Given the description of an element on the screen output the (x, y) to click on. 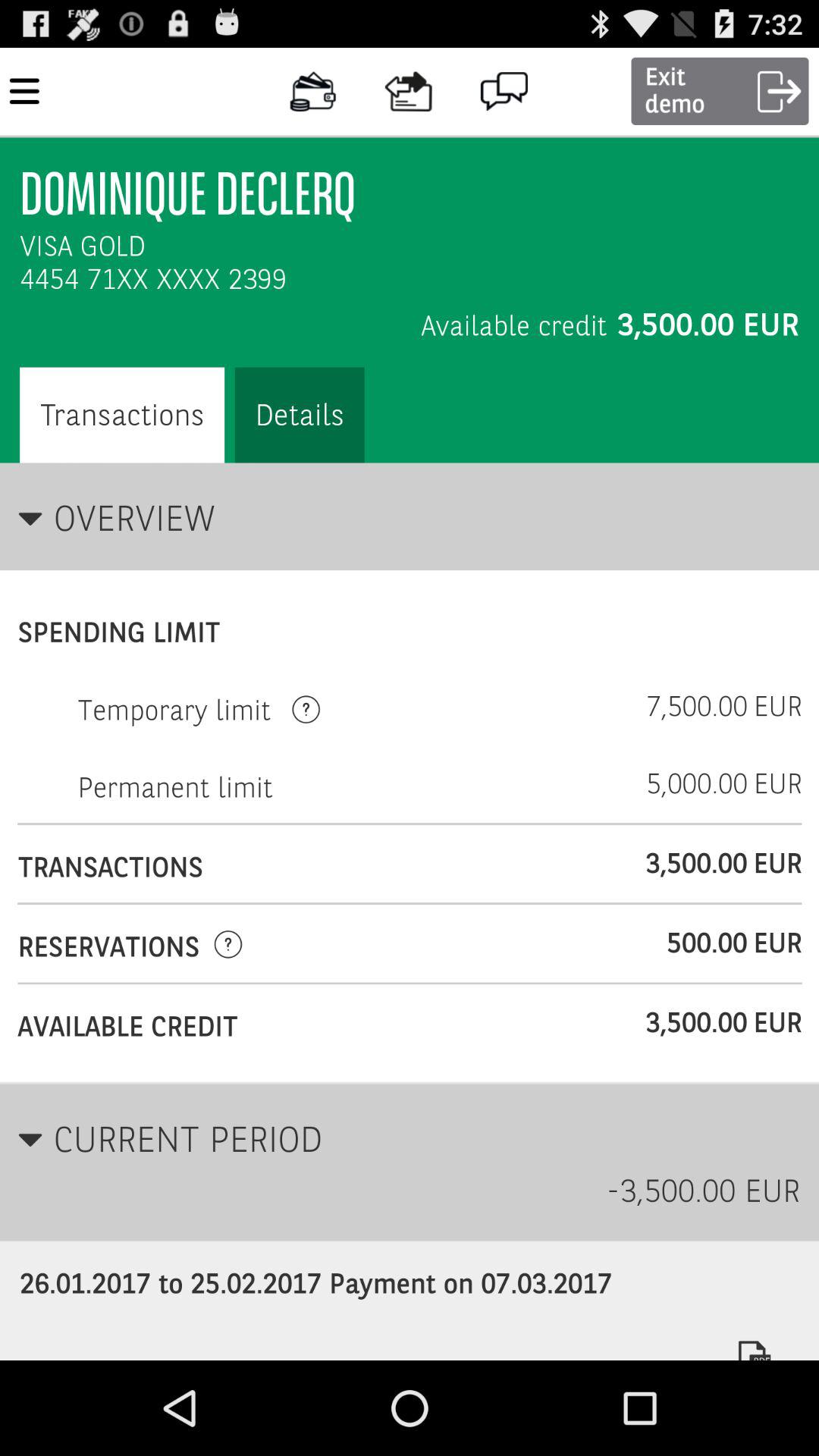
click on icon right side of menu icon (313, 91)
click on the button which is to the right side of the comment icon (720, 91)
select the message icon (504, 91)
icon left to message icon (408, 91)
select the top left corner of menu bar (24, 90)
go to option left side of details (121, 415)
